Given the description of an element on the screen output the (x, y) to click on. 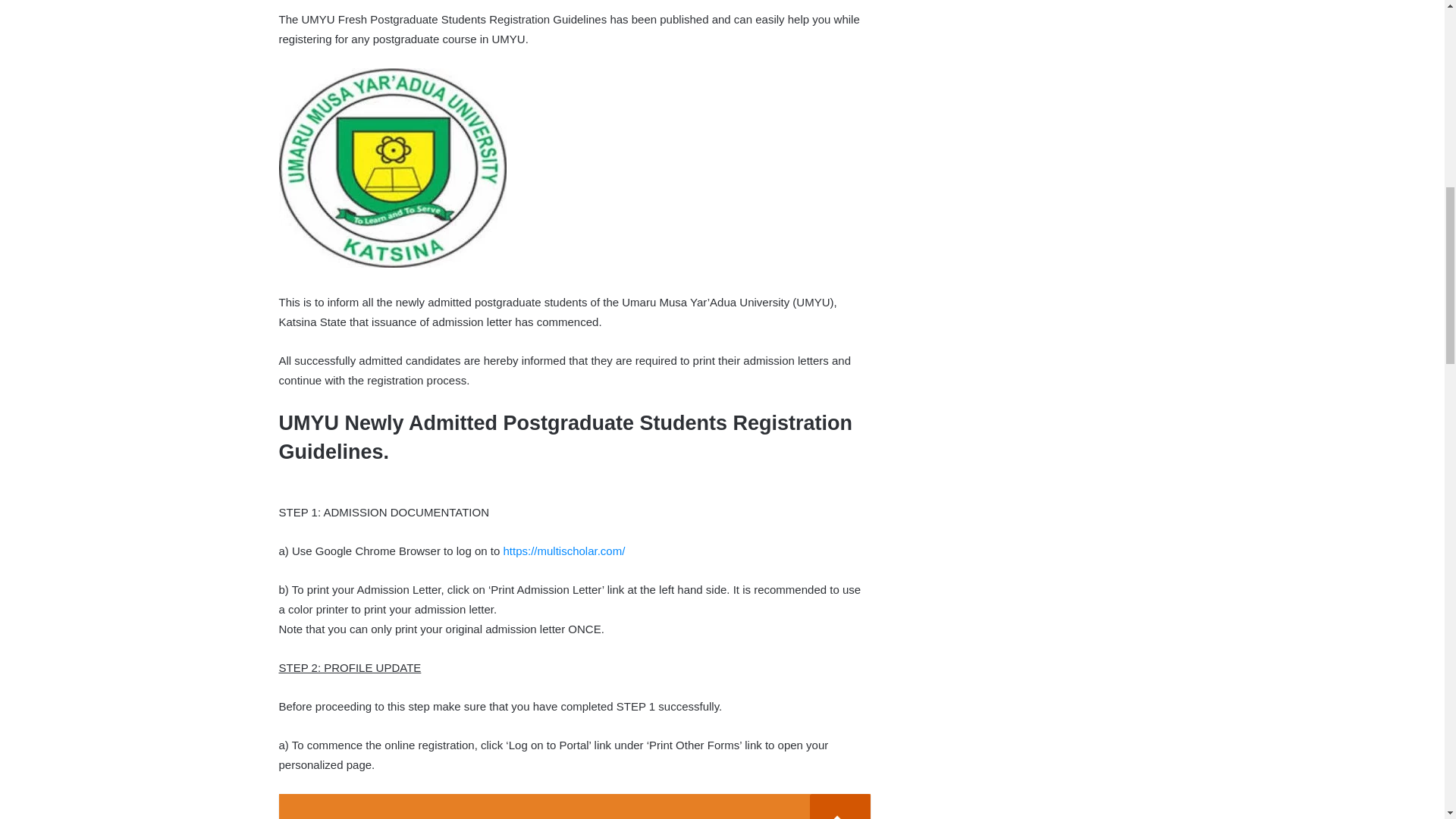
UMYU Fresh Postgraduate Students Registration Guidelines (392, 167)
